Given the description of an element on the screen output the (x, y) to click on. 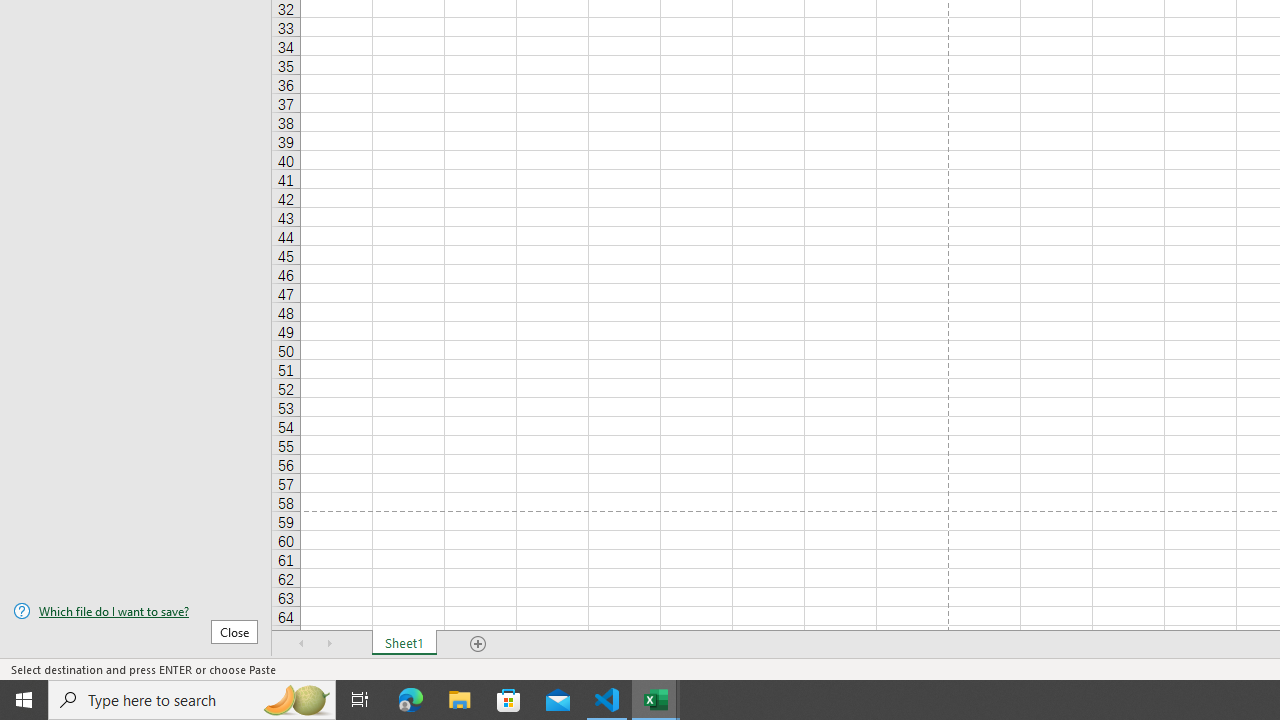
Microsoft Store (509, 699)
